Given the description of an element on the screen output the (x, y) to click on. 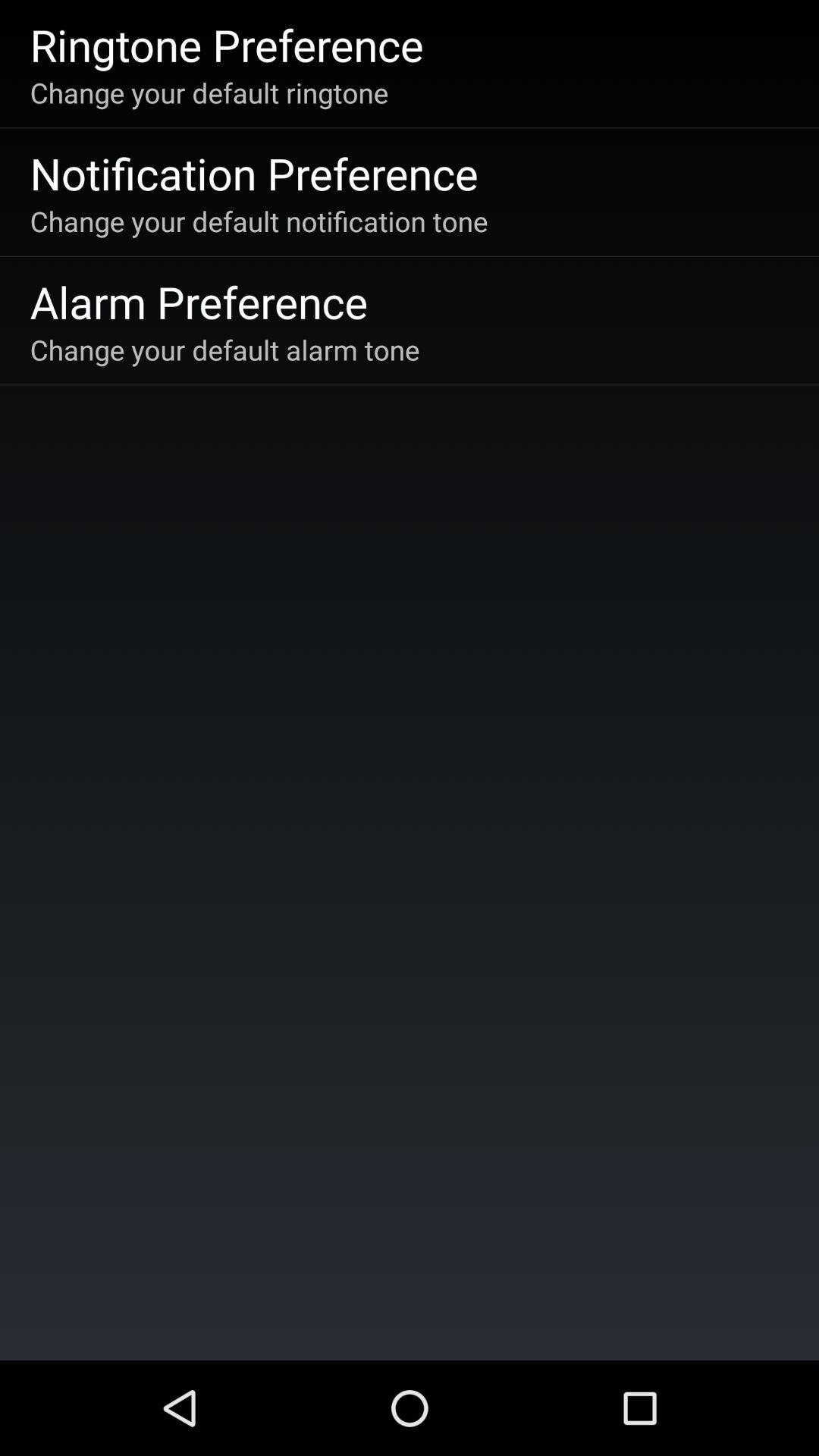
turn on the app below change your default (198, 301)
